Given the description of an element on the screen output the (x, y) to click on. 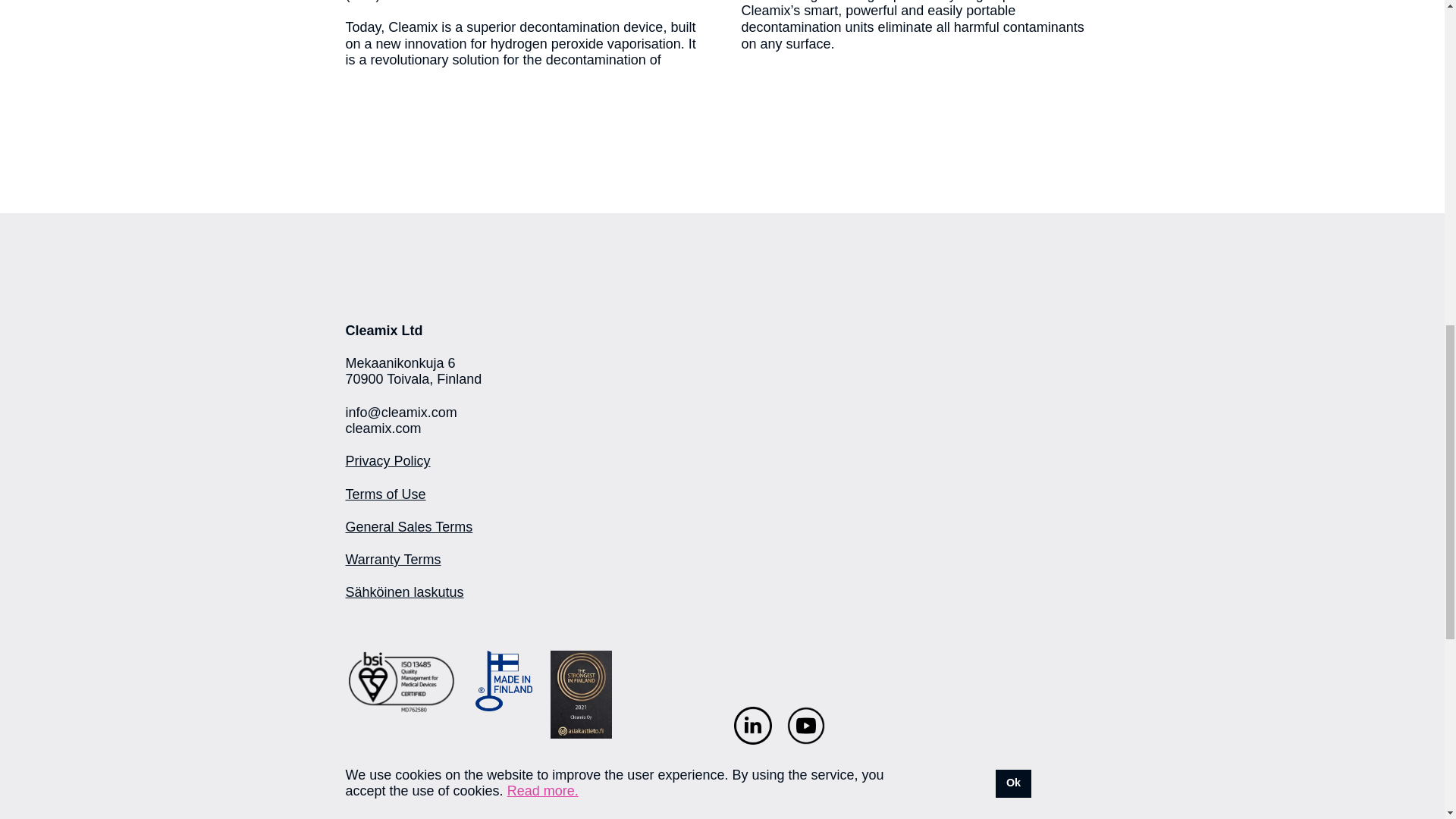
Terms of Use (386, 494)
Warranty Terms (393, 559)
General Sales Terms (409, 526)
Privacy Policy (388, 460)
